Given the description of an element on the screen output the (x, y) to click on. 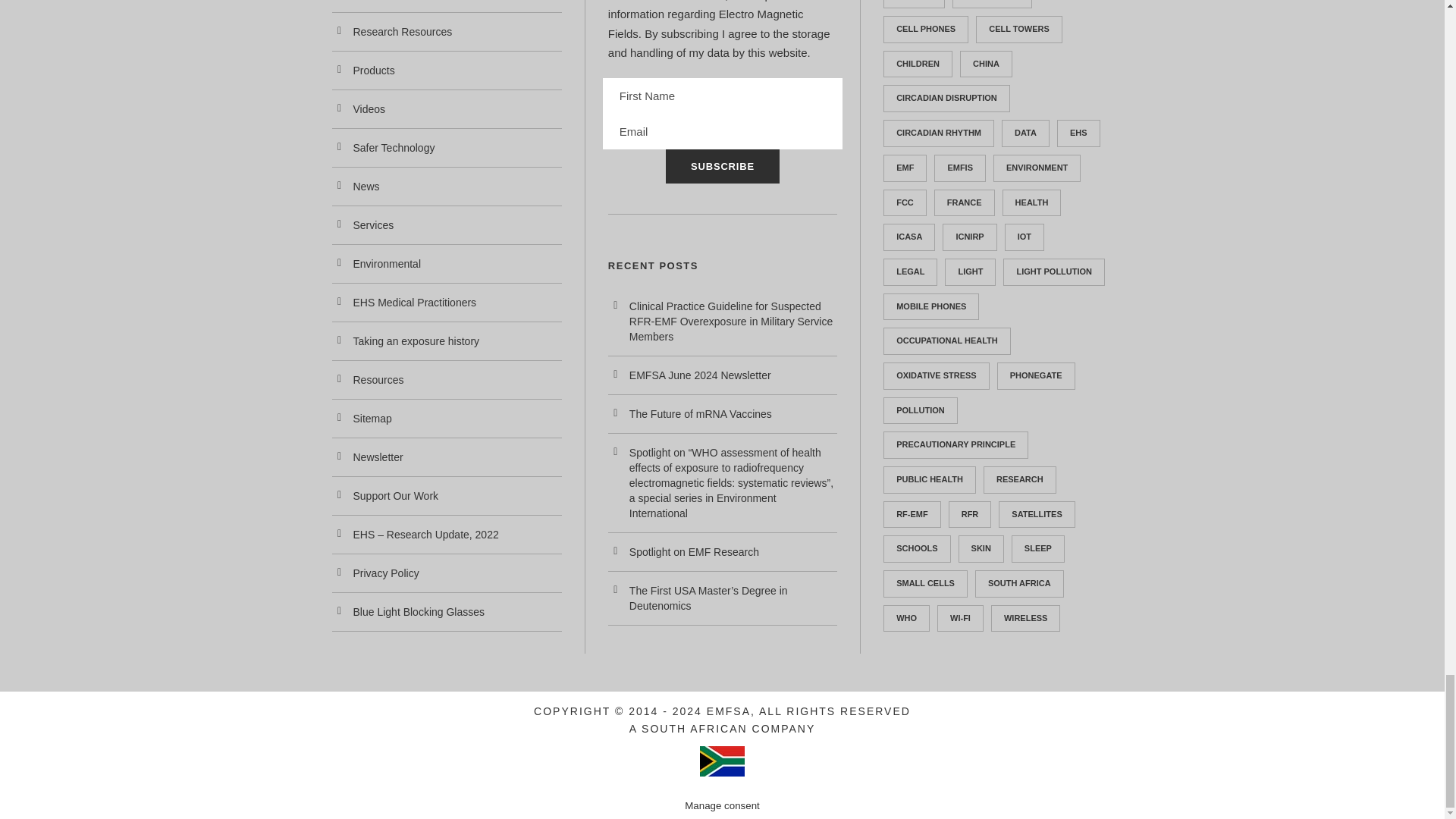
Subscribe (721, 166)
